Given the description of an element on the screen output the (x, y) to click on. 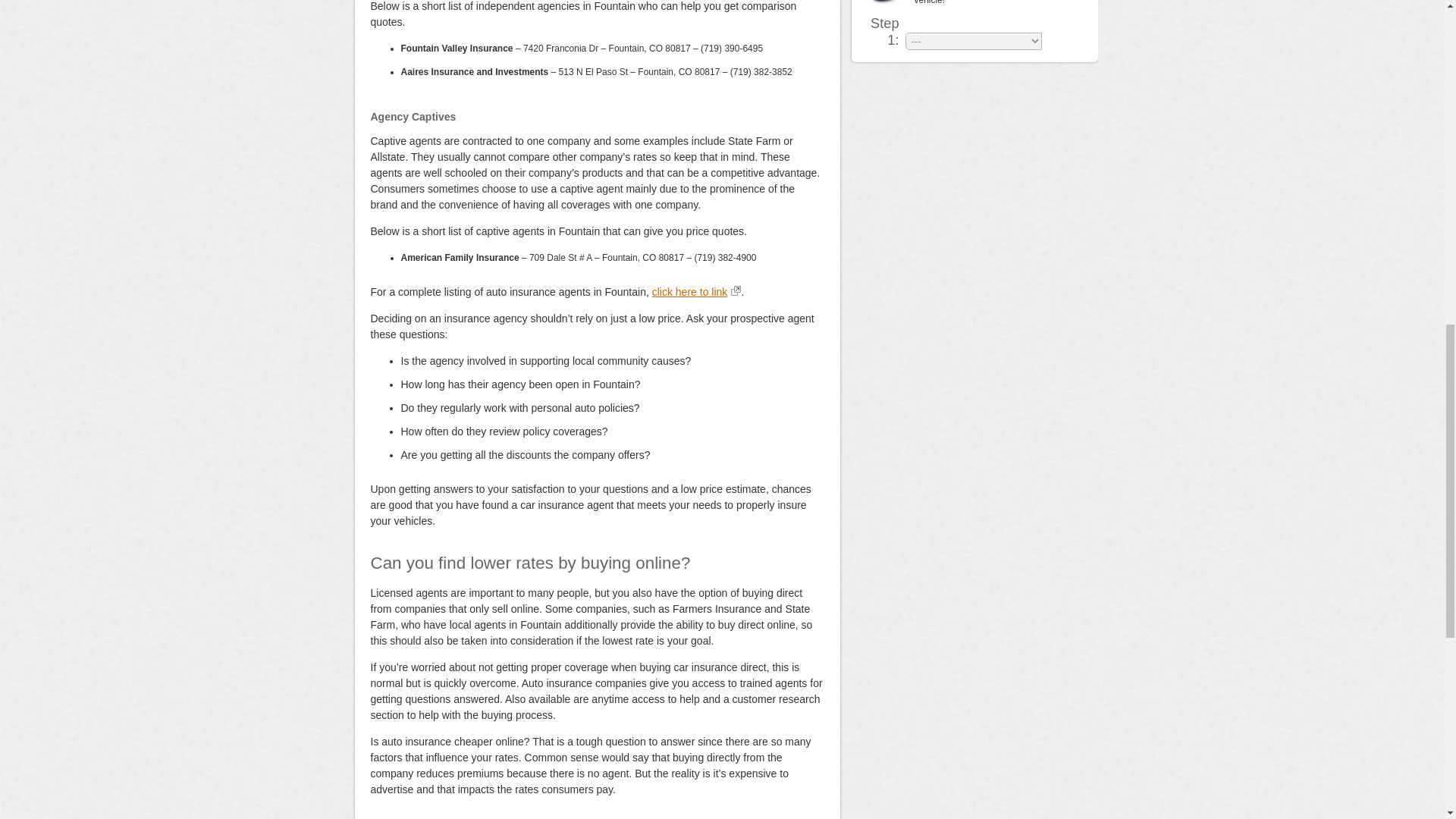
click here to link (696, 291)
